Given the description of an element on the screen output the (x, y) to click on. 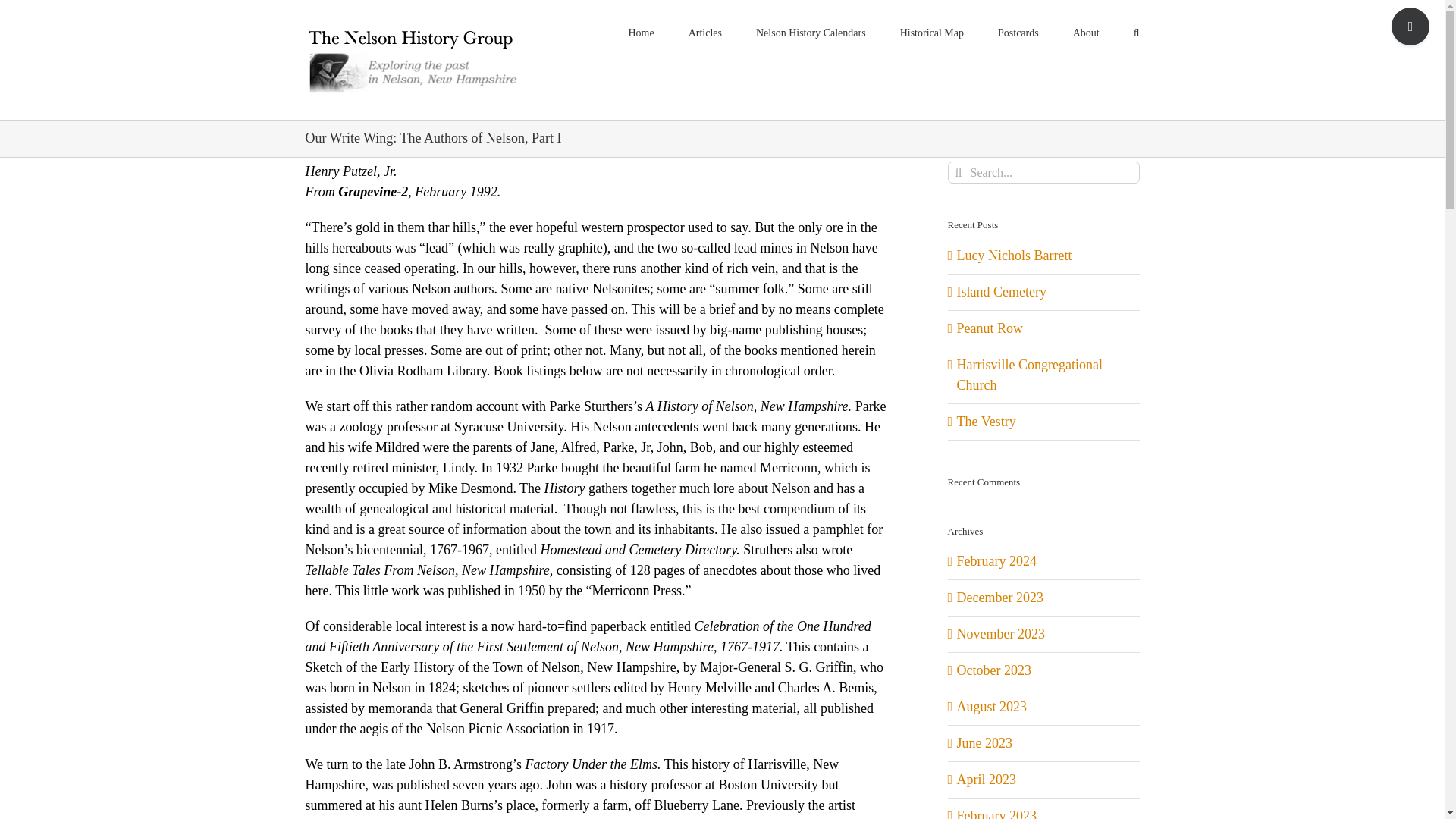
Home (640, 31)
Articles (705, 31)
Search (1137, 31)
Articles (705, 31)
Postcards (1018, 31)
Historical Map (931, 31)
Nelson History Calendars (810, 31)
About (1086, 31)
